Given the description of an element on the screen output the (x, y) to click on. 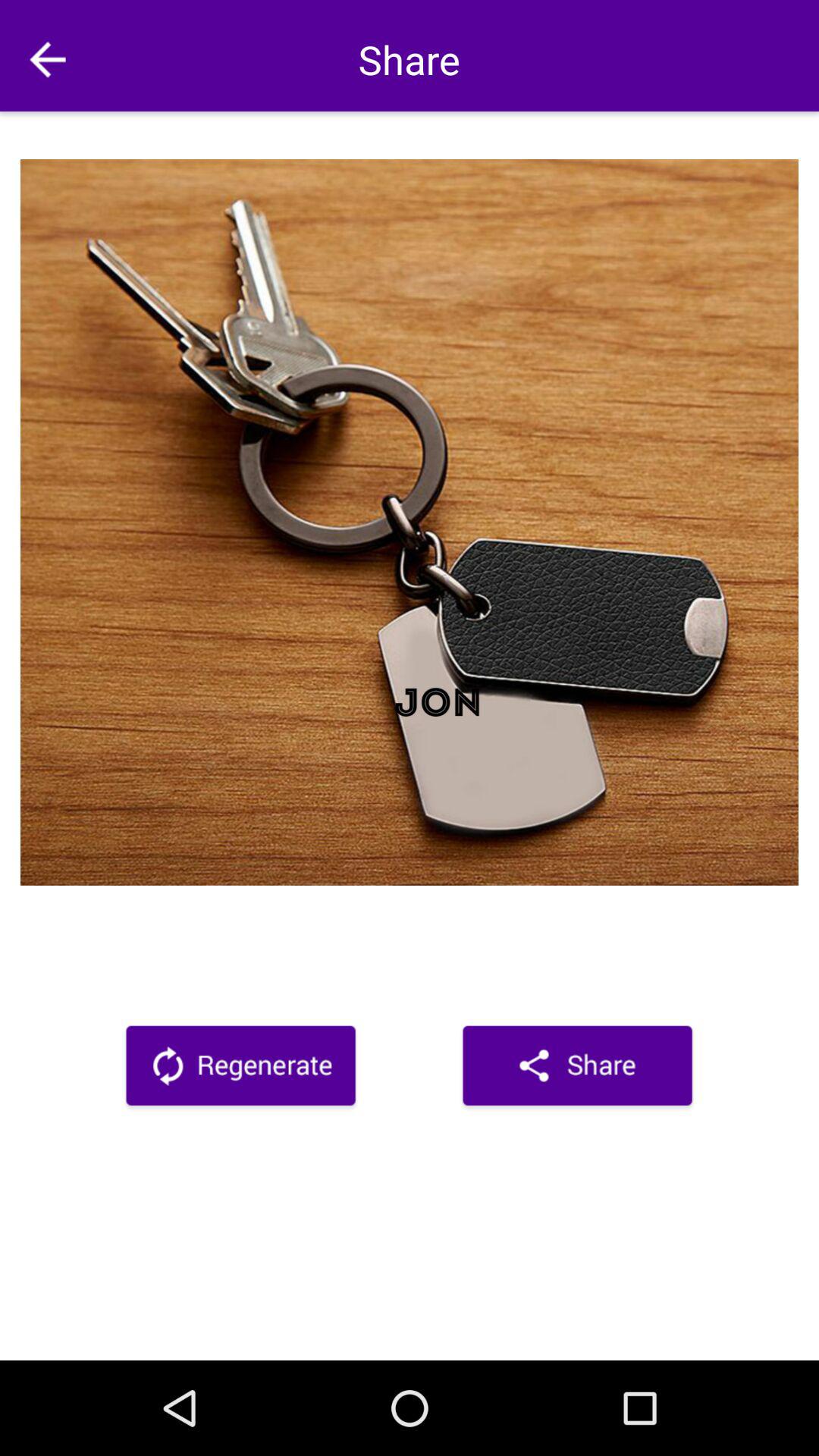
regenerate (240, 1068)
